Given the description of an element on the screen output the (x, y) to click on. 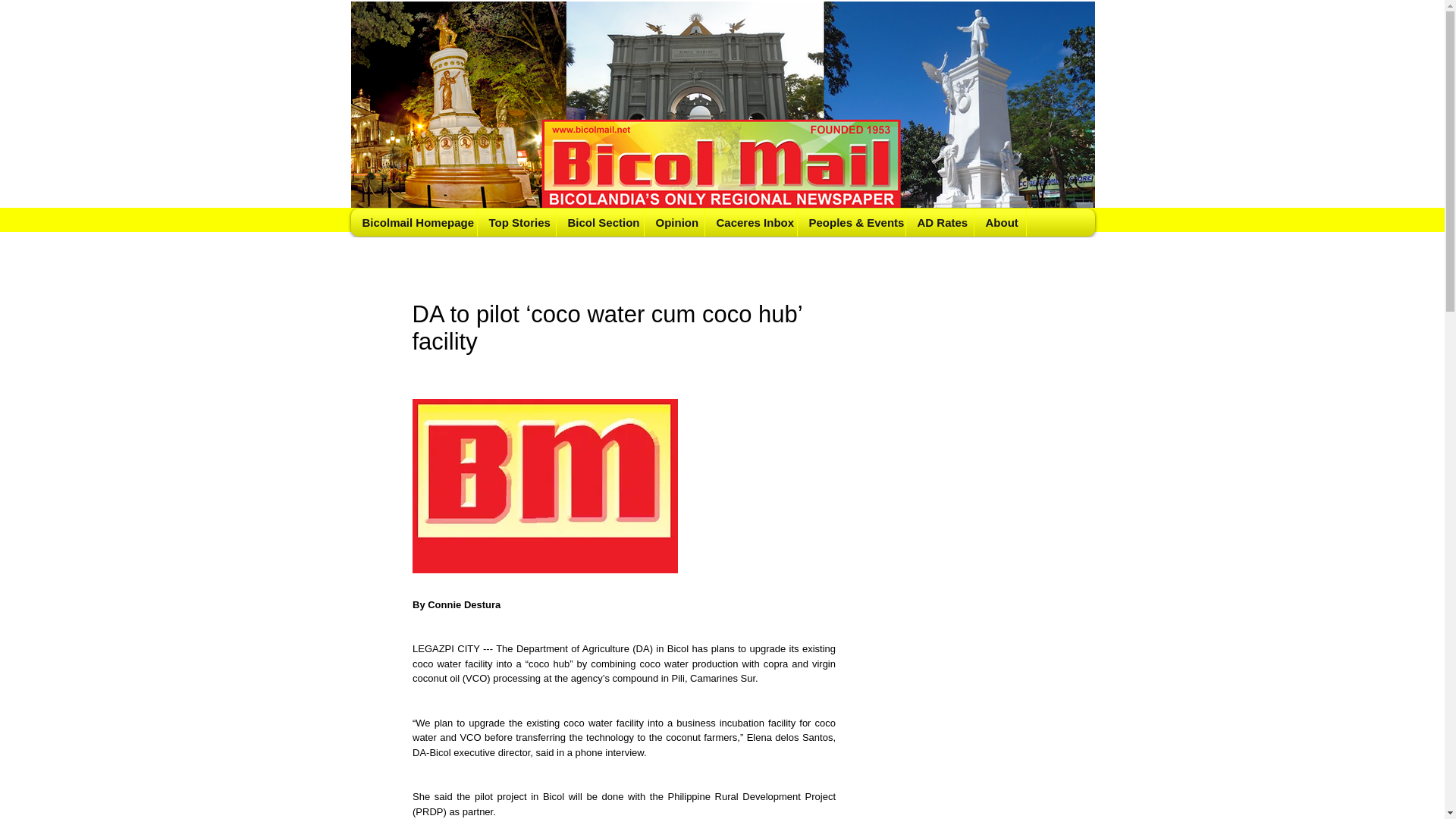
AD Rates (939, 222)
Bicol Section (599, 222)
Opinion (673, 222)
About (1000, 222)
Bicolmail Homepage (414, 222)
Top Stories (515, 222)
Caceres Inbox (749, 222)
